Given the description of an element on the screen output the (x, y) to click on. 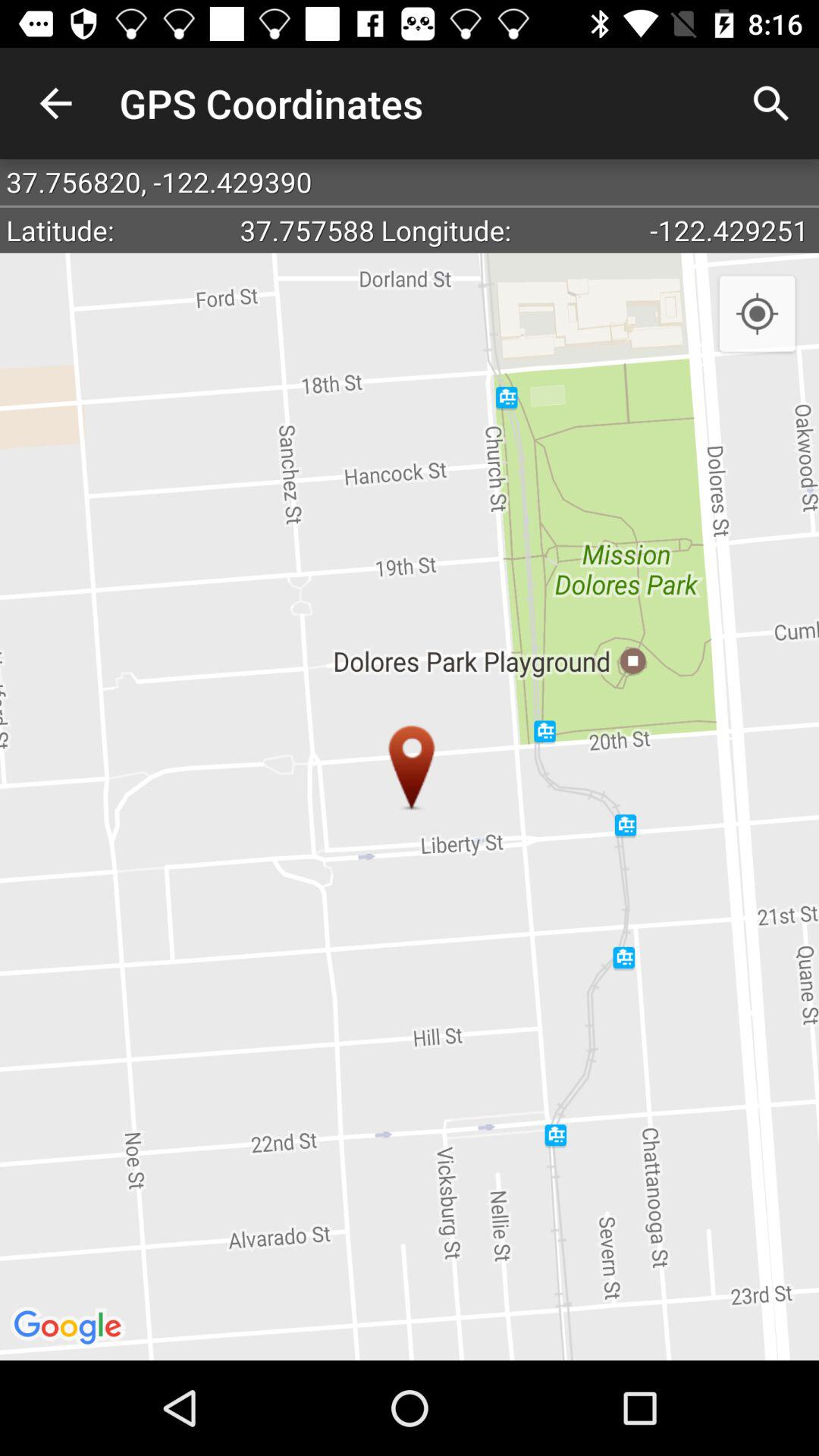
click icon next to the gps coordinates item (771, 103)
